Given the description of an element on the screen output the (x, y) to click on. 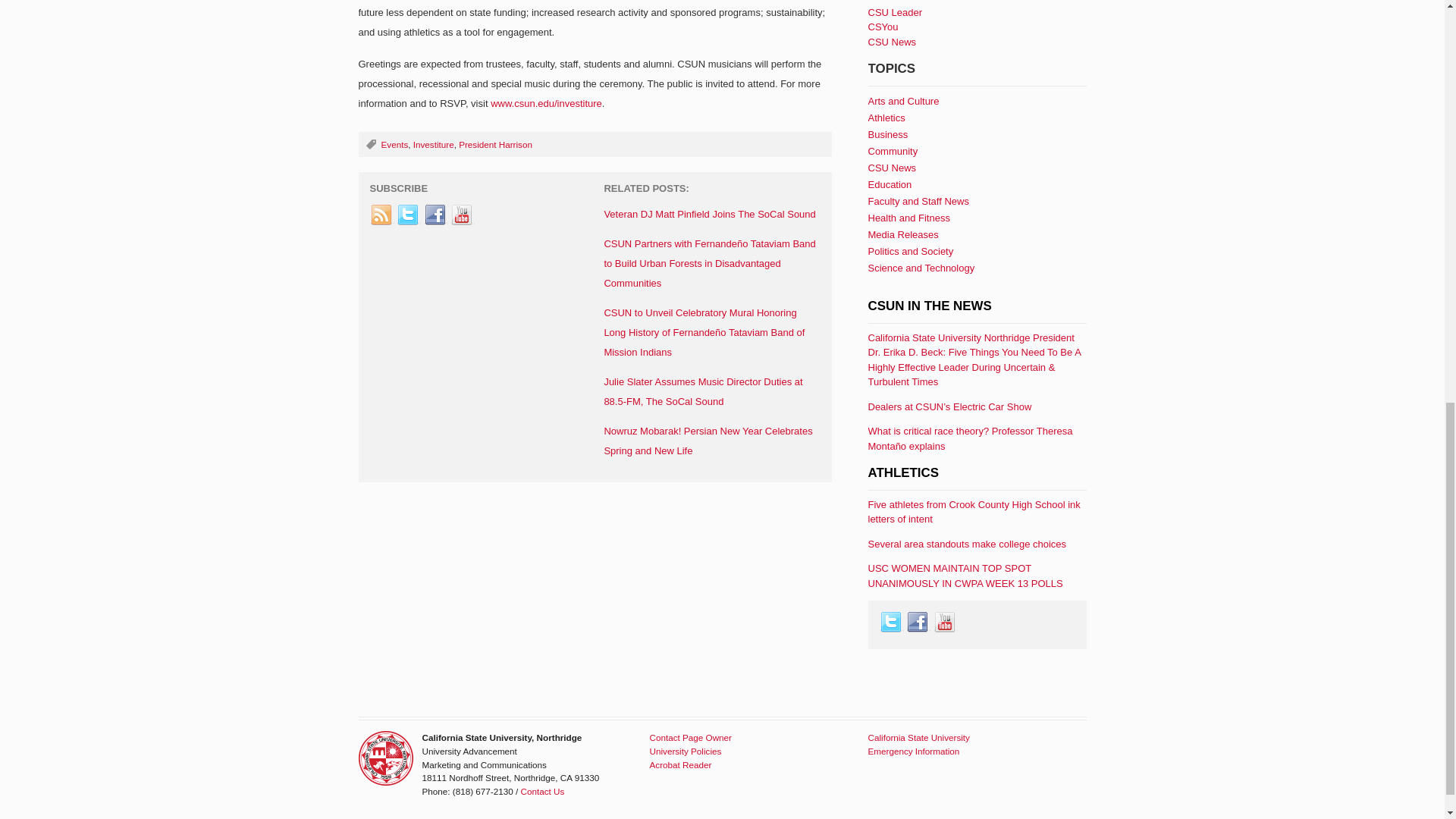
Veteran DJ Matt Pinfield Joins The SoCal Sound (709, 214)
RSS (381, 215)
Facebook (435, 215)
Veteran DJ Matt Pinfield Joins The SoCal Sound (709, 214)
Events (393, 144)
President Harrison (495, 144)
Investiture (433, 144)
YouTube (461, 215)
